Given the description of an element on the screen output the (x, y) to click on. 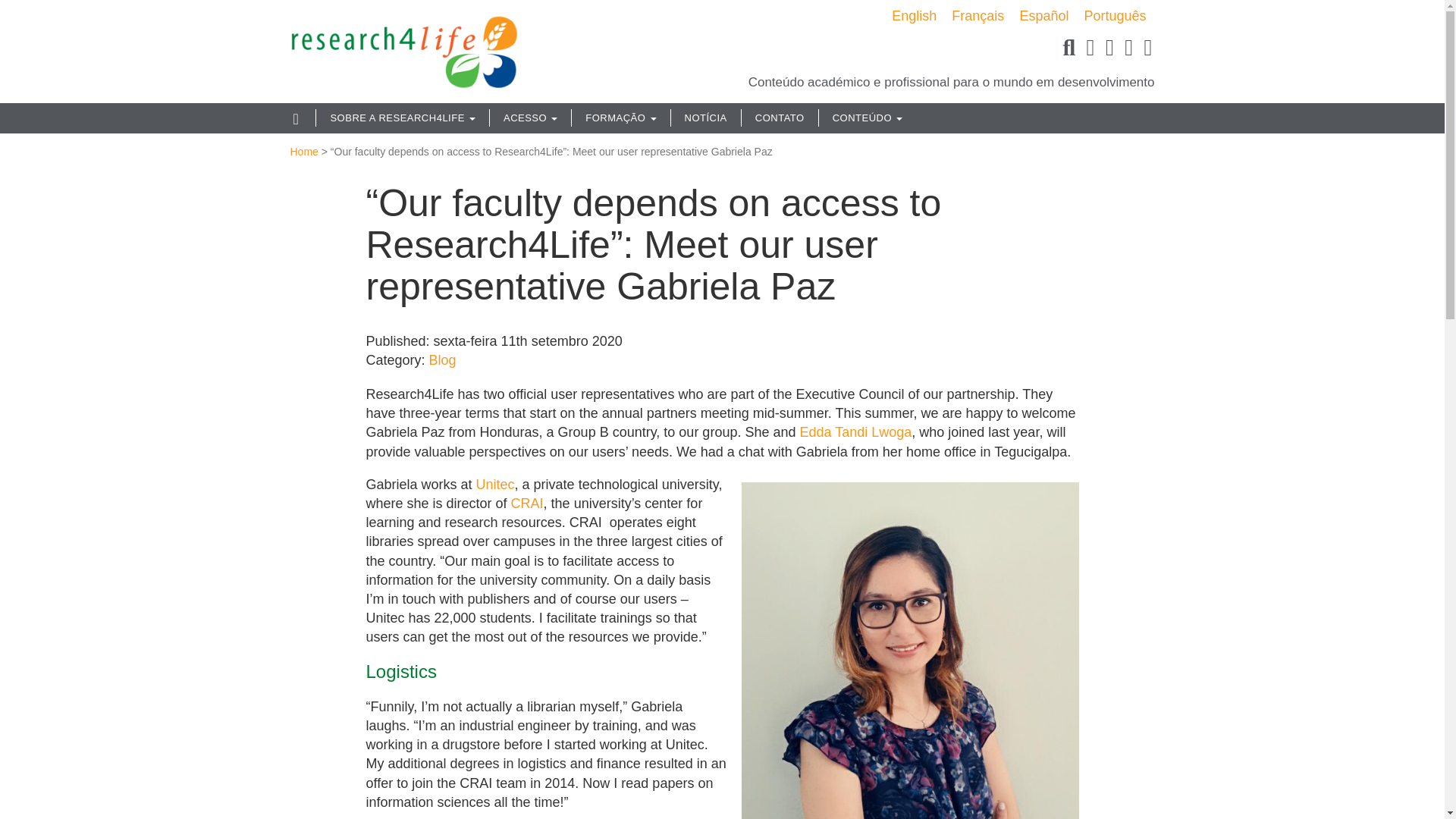
CONTATO (780, 117)
Unitec (495, 484)
Edda Tandi Lwoga (855, 432)
Acesso (530, 117)
English (913, 15)
ACESSO (530, 117)
Home (303, 151)
Blog (443, 359)
SOBRE A RESEARCH4LIFE (403, 117)
Sobre a Research4Life (403, 117)
